Given the description of an element on the screen output the (x, y) to click on. 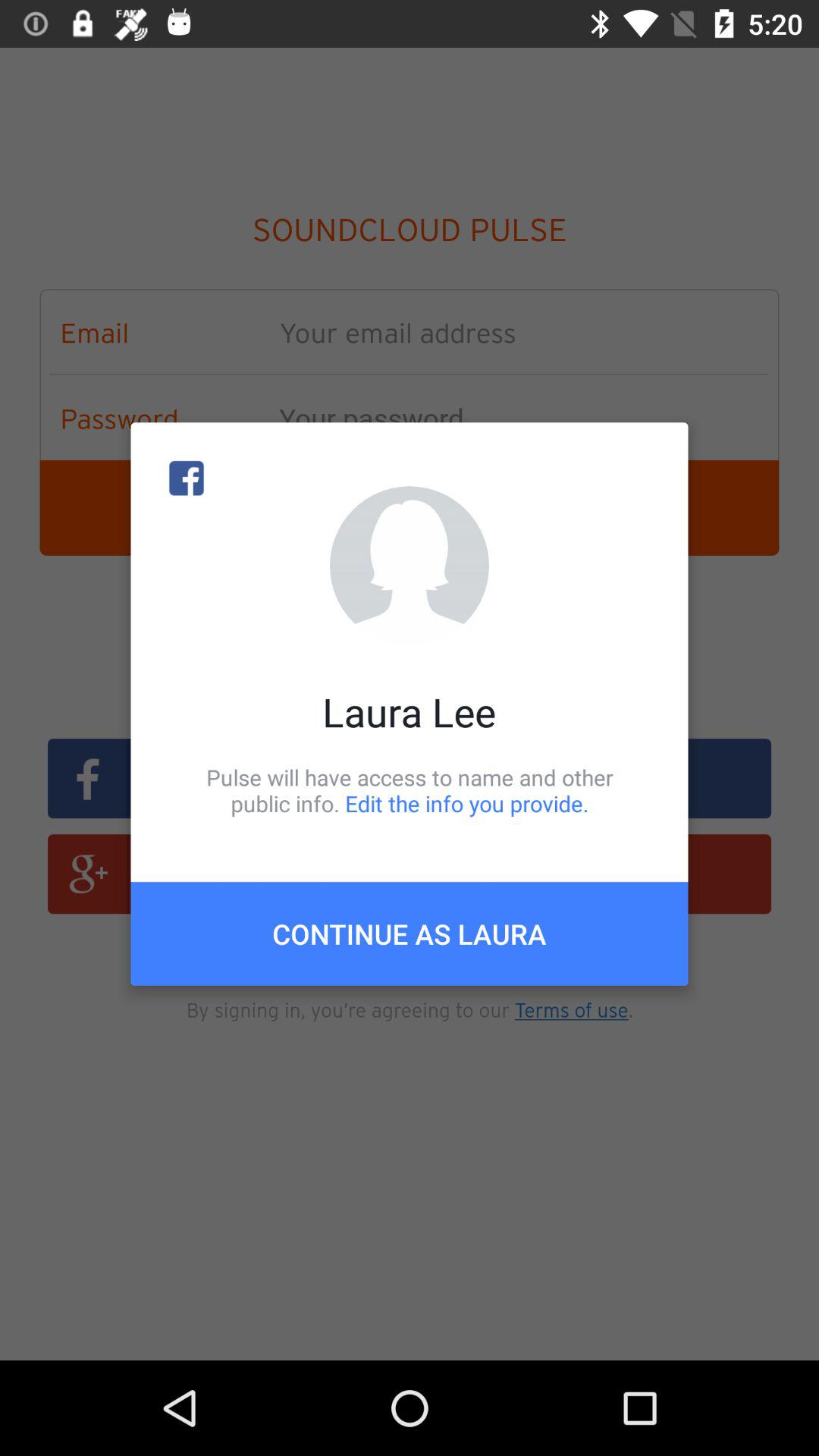
select the icon below pulse will have icon (409, 933)
